Given the description of an element on the screen output the (x, y) to click on. 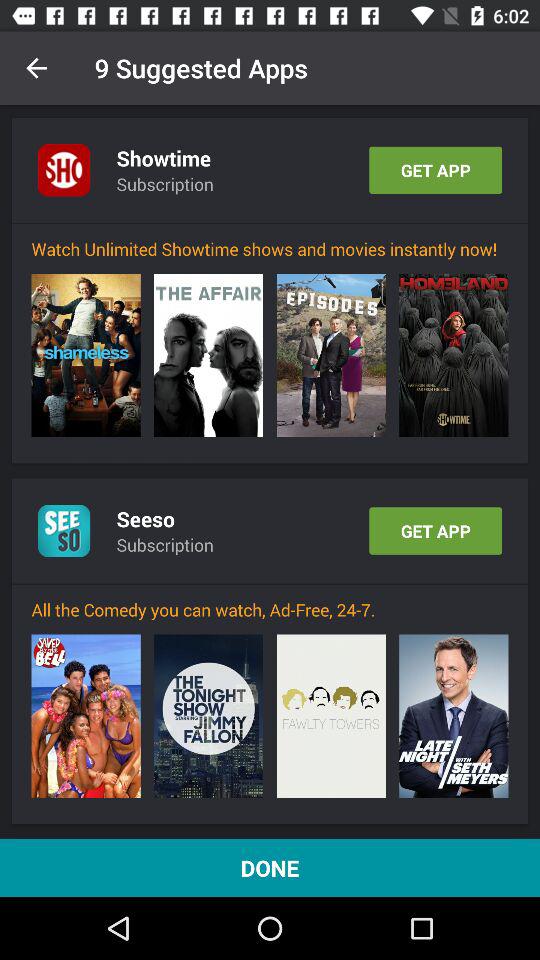
choose the icon below watch unlimited showtime item (330, 355)
